Given the description of an element on the screen output the (x, y) to click on. 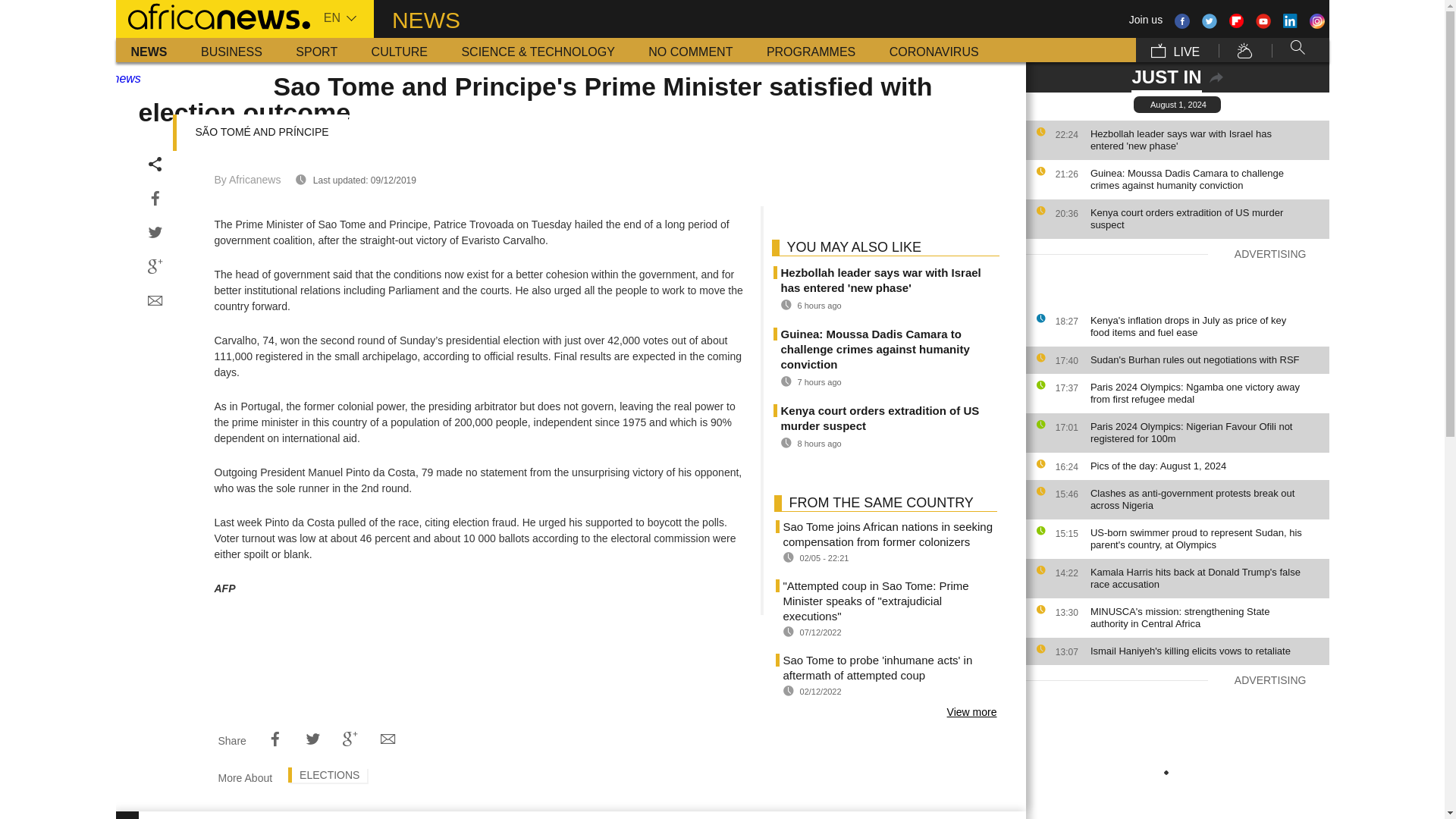
Africanews (211, 15)
Culture (399, 49)
Programmes (810, 49)
NEWS (148, 49)
PROGRAMMES (810, 49)
Coronavirus (934, 49)
SPORT (316, 49)
Sudan's Burhan rules out negotiations with RSF (1206, 359)
News (148, 49)
